Given the description of an element on the screen output the (x, y) to click on. 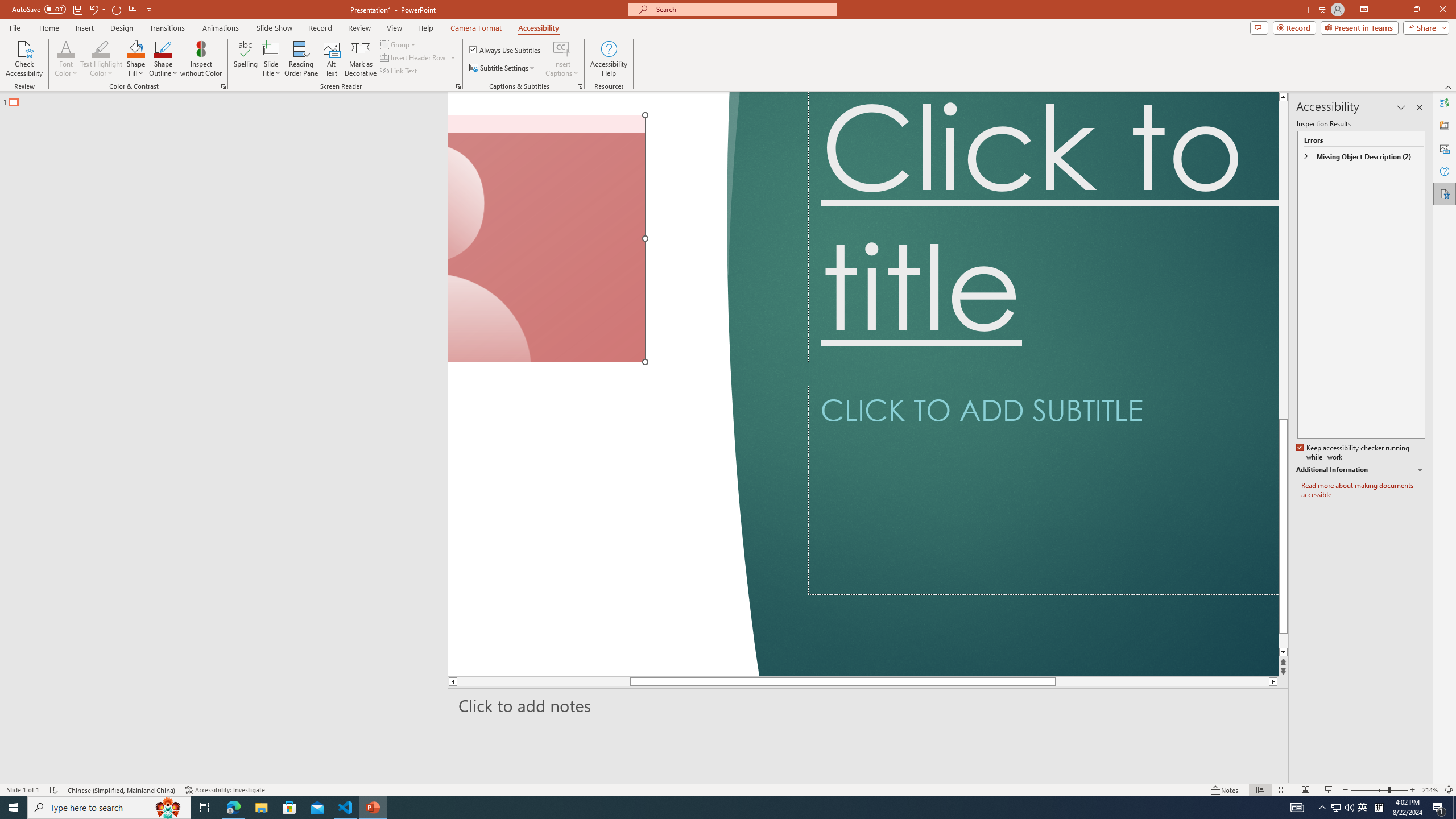
Mark as Decorative (360, 58)
Screen Reader (458, 85)
Group (398, 44)
